Given the description of an element on the screen output the (x, y) to click on. 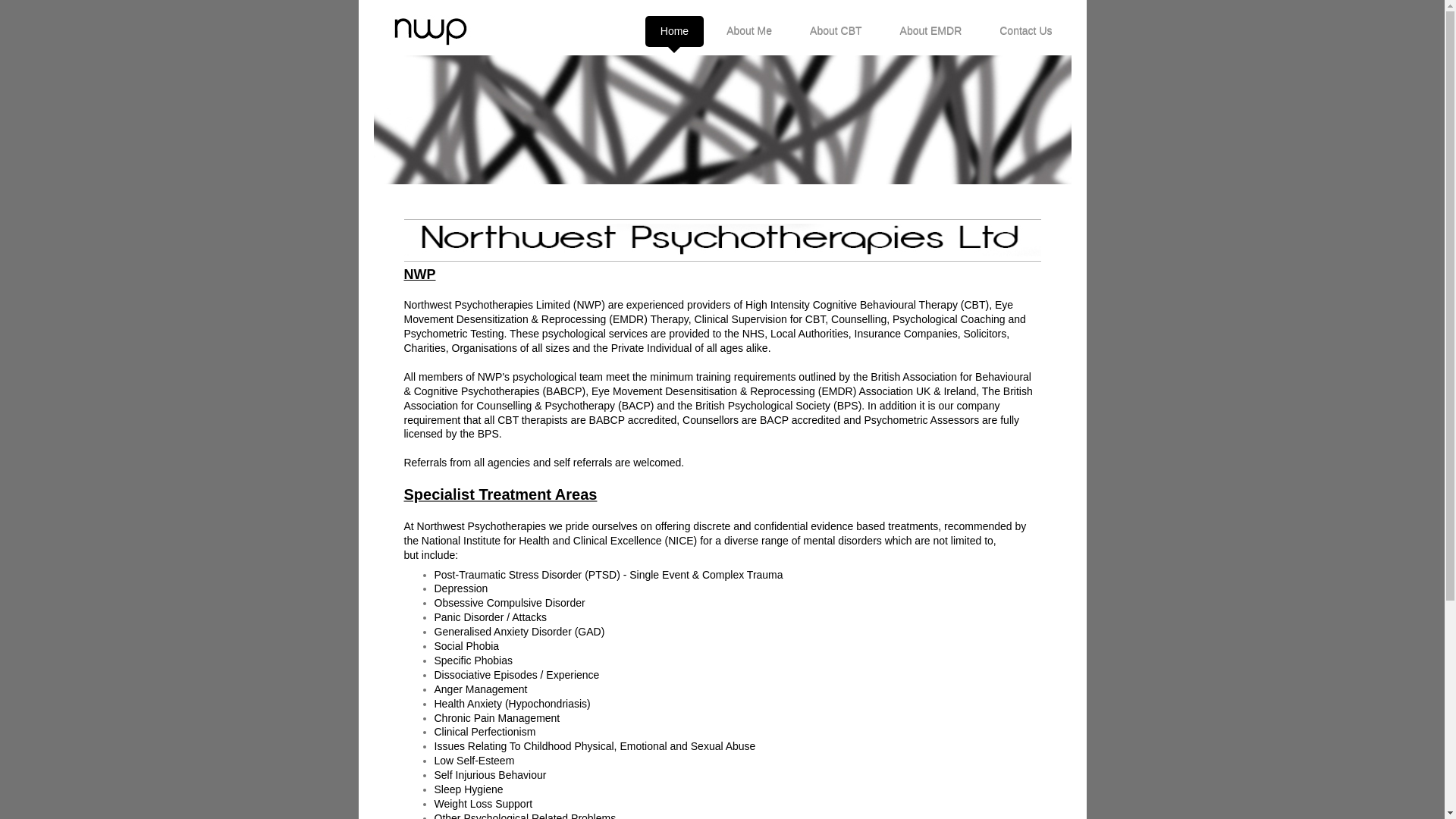
About CBT (835, 30)
About Me (749, 30)
Contact Us (1025, 30)
Home (674, 30)
About EMDR (930, 30)
